Given the description of an element on the screen output the (x, y) to click on. 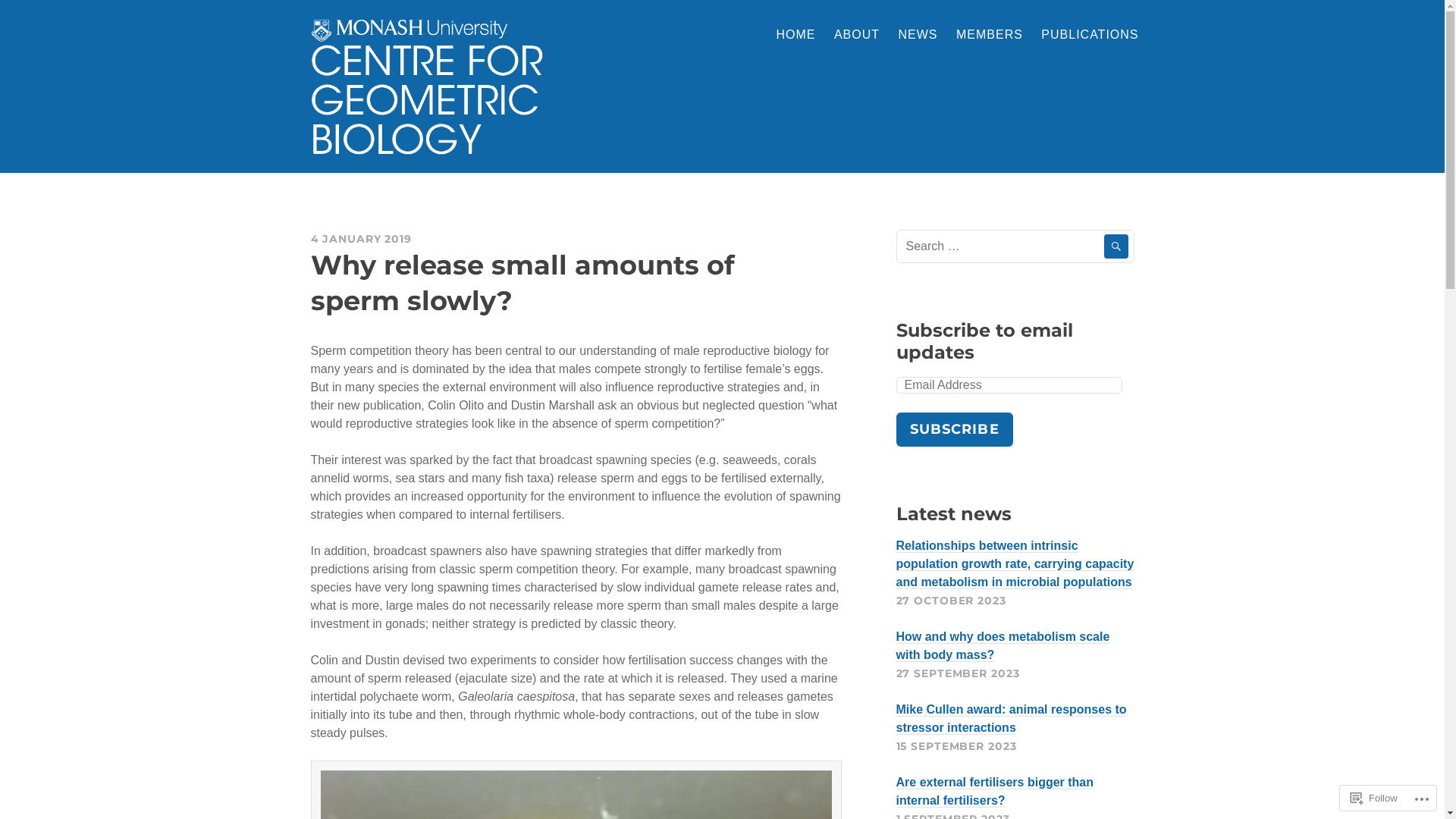
Centre for Geometric Biology Element type: text (476, 172)
Are external fertilisers bigger than internal fertilisers? Element type: text (995, 791)
PUBLICATIONS Element type: text (1089, 36)
Search Element type: text (1116, 246)
MEMBERS Element type: text (989, 36)
4 JANUARY 2019 Element type: text (360, 238)
How and why does metabolism scale with body mass? Element type: text (1003, 646)
Follow Element type: text (1373, 797)
SUBSCRIBE Element type: text (954, 429)
ABOUT Element type: text (856, 36)
HOME Element type: text (795, 36)
NEWS Element type: text (918, 36)
Mike Cullen award: animal responses to stressor interactions Element type: text (1011, 718)
